Given the description of an element on the screen output the (x, y) to click on. 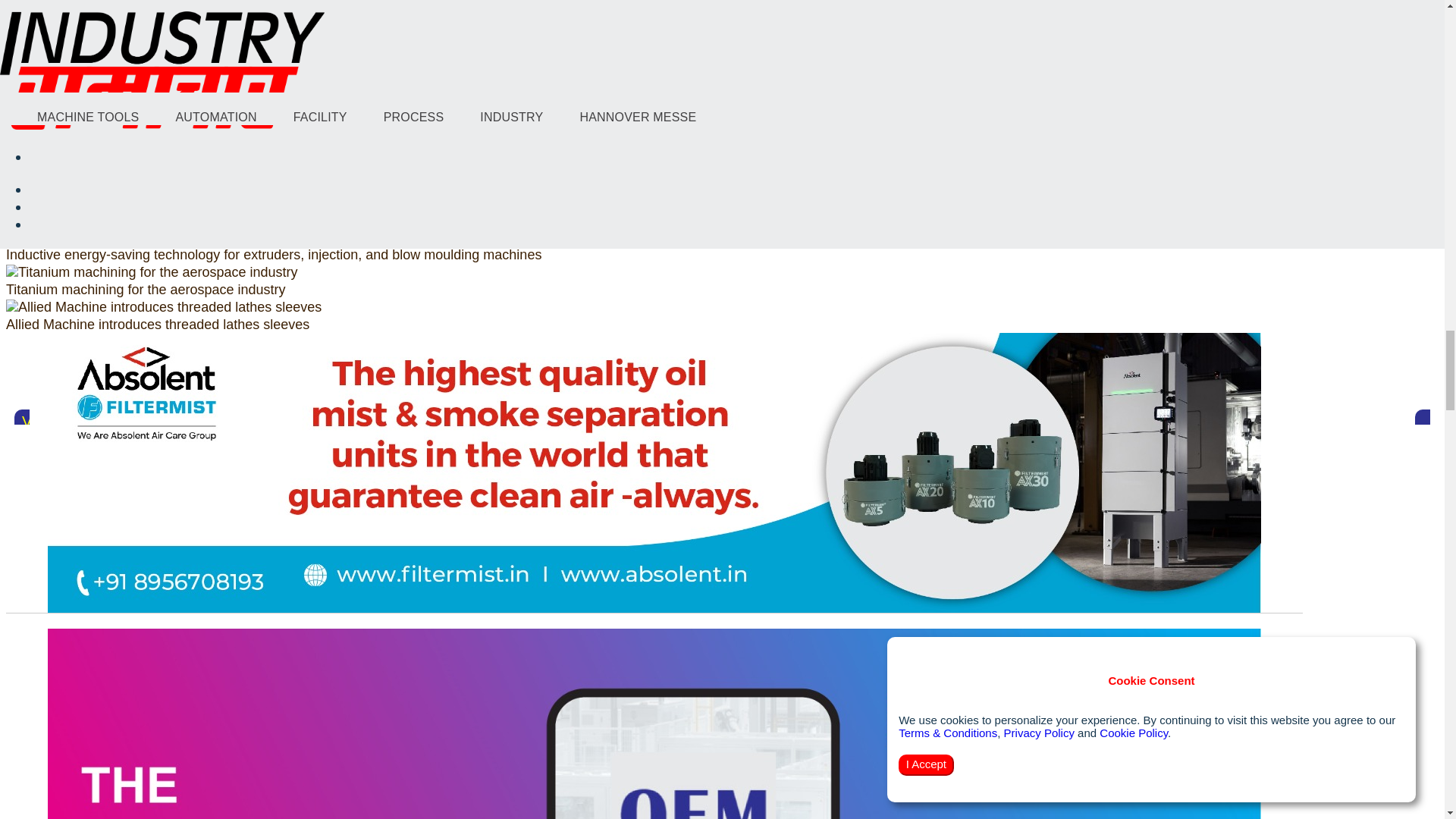
New challenges for parts and component cleaning (162, 202)
Allied Machine introduces threaded lathes sleeves (163, 307)
The shift log goes digital (322, 68)
Titanium machining for the aerospace industry (151, 272)
